Given the description of an element on the screen output the (x, y) to click on. 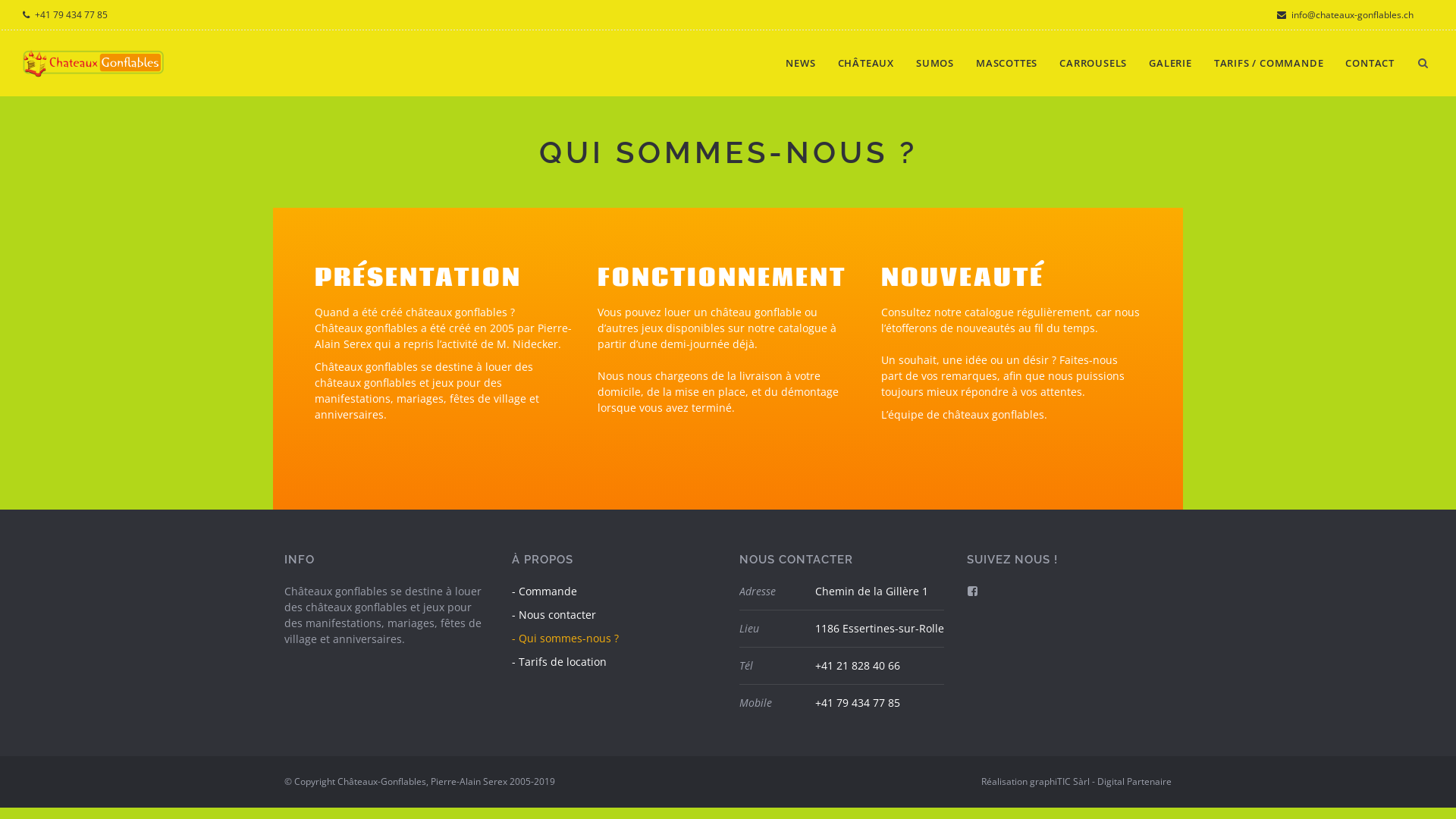
Nous contacter Element type: text (553, 614)
Qui sommes-nous ? Element type: text (564, 638)
TARIFS / COMMANDE Element type: text (1269, 72)
Tarifs de location Element type: text (558, 661)
CARROUSELS Element type: text (1092, 72)
MASCOTTES Element type: text (1006, 72)
Facebook Element type: hover (972, 590)
NEWS Element type: text (800, 72)
CONTACT Element type: text (1369, 72)
Recherche Element type: text (48, 15)
info@chateaux-gonflables.ch Element type: text (1345, 14)
GALERIE Element type: text (1170, 72)
SUMOS Element type: text (934, 72)
catalogue Element type: text (802, 327)
Commande Element type: text (544, 591)
